Given the description of an element on the screen output the (x, y) to click on. 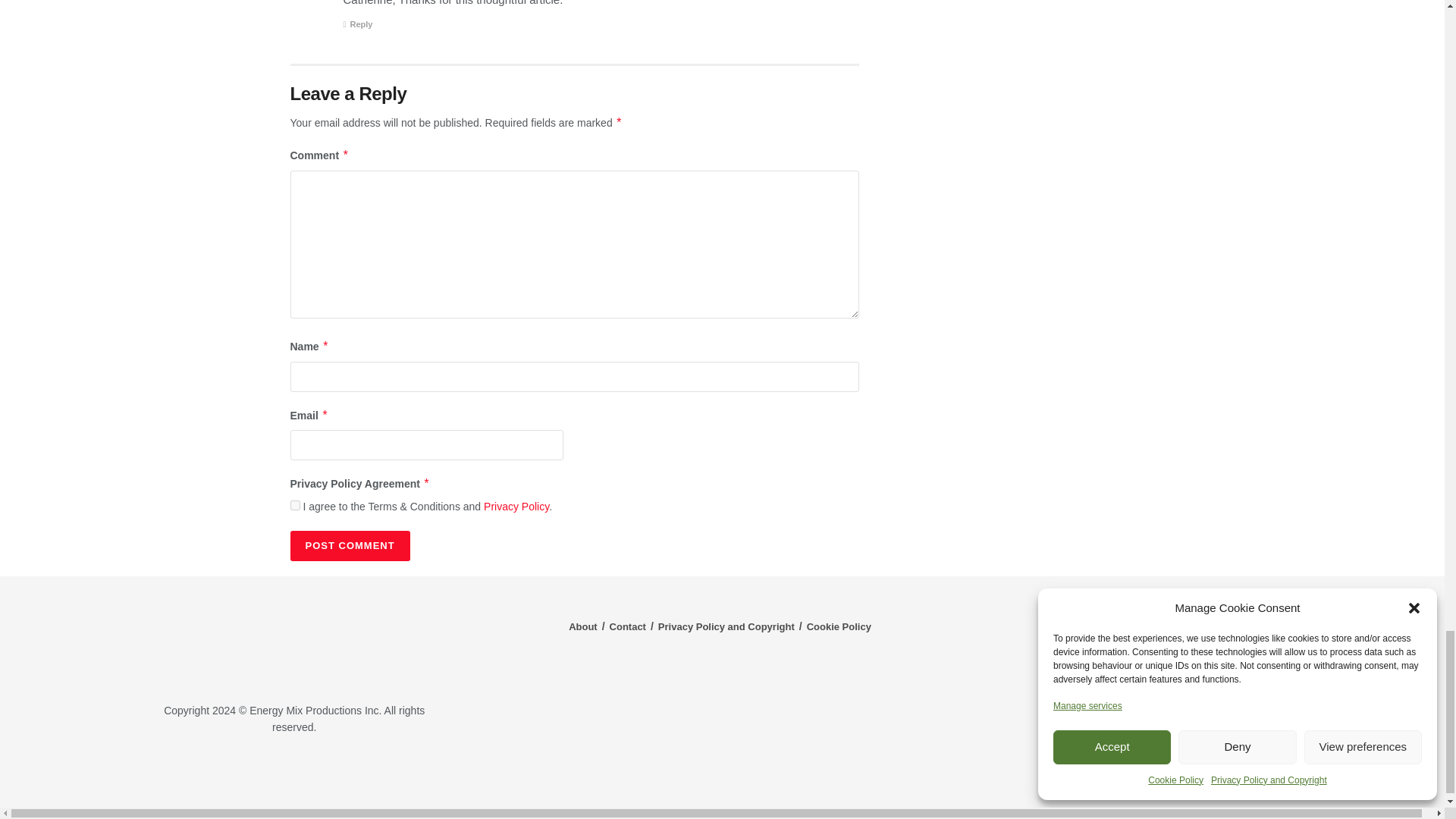
tem-logo-2024 (294, 640)
Post Comment (349, 545)
Climate-and-Capital (1221, 772)
on (294, 505)
